Given the description of an element on the screen output the (x, y) to click on. 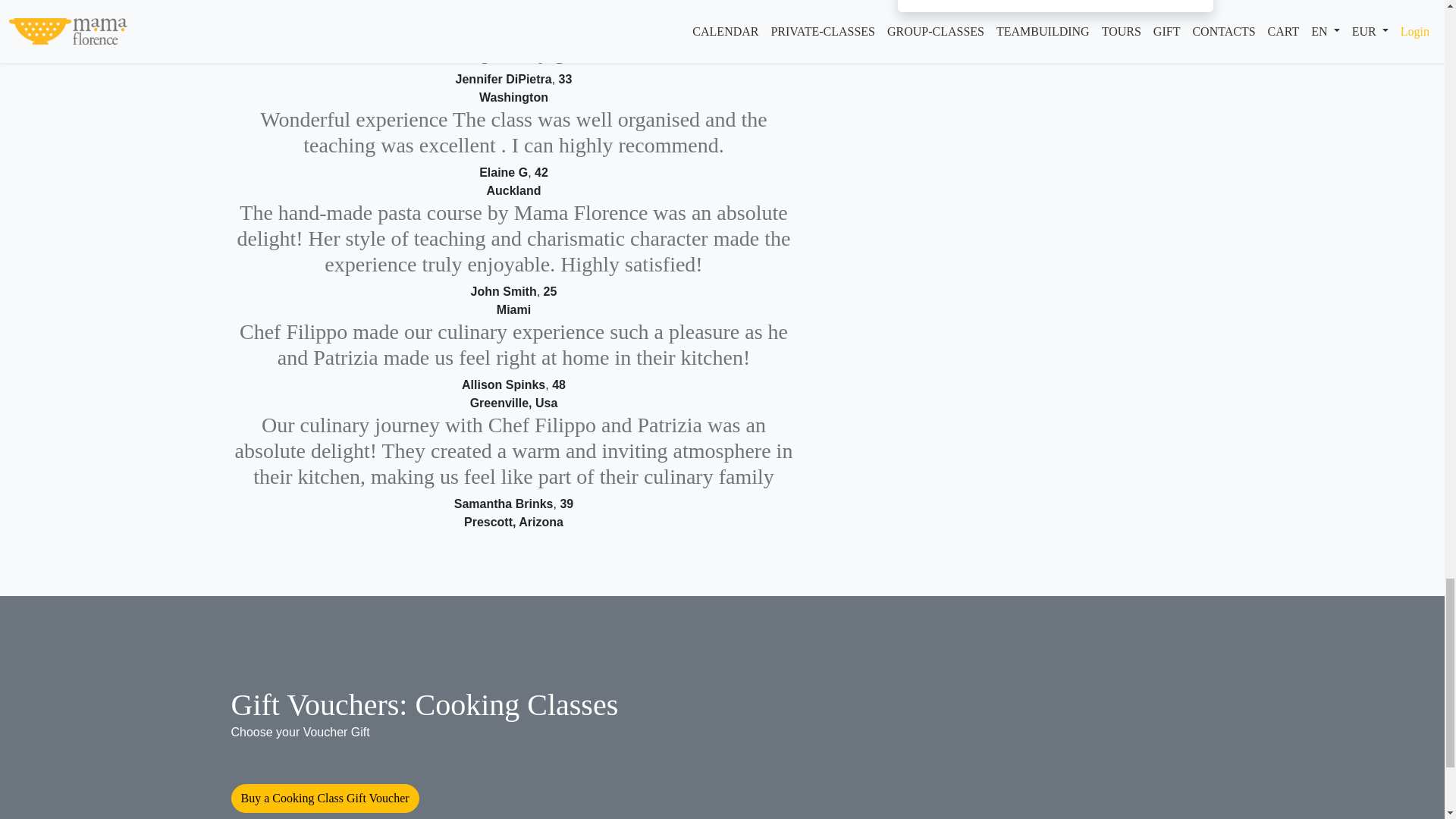
Buy a Cooking Class Gift Voucher (324, 798)
